Given the description of an element on the screen output the (x, y) to click on. 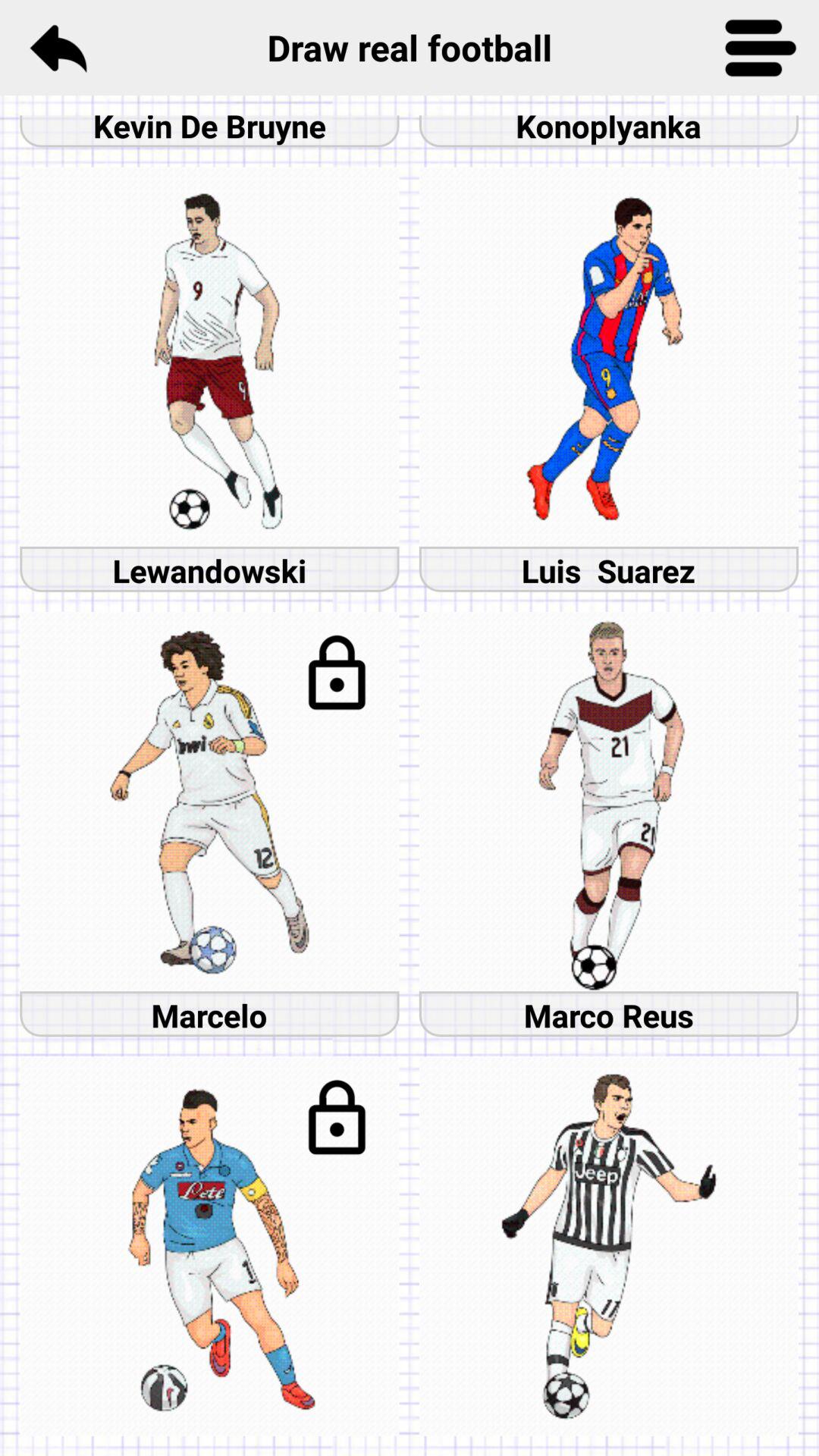
press the item to the left of the draw real football (58, 47)
